Given the description of an element on the screen output the (x, y) to click on. 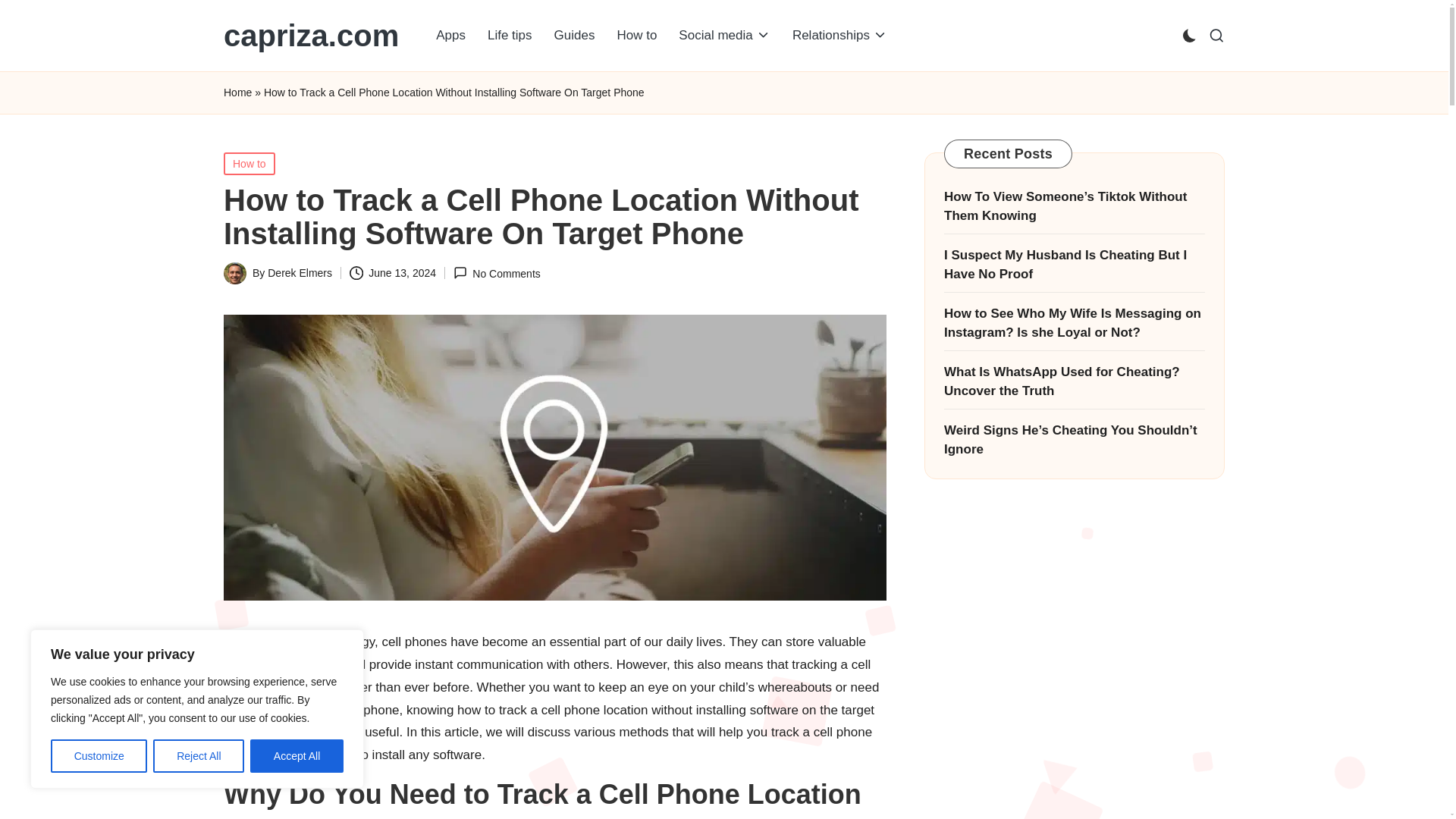
Customize (98, 756)
Accept All (296, 756)
View all posts by Derek Elmers (299, 272)
Life tips (510, 35)
How to (635, 35)
Social media (724, 35)
capriza.com (311, 35)
Relationships (839, 35)
Reject All (198, 756)
Guides (574, 35)
